Given the description of an element on the screen output the (x, y) to click on. 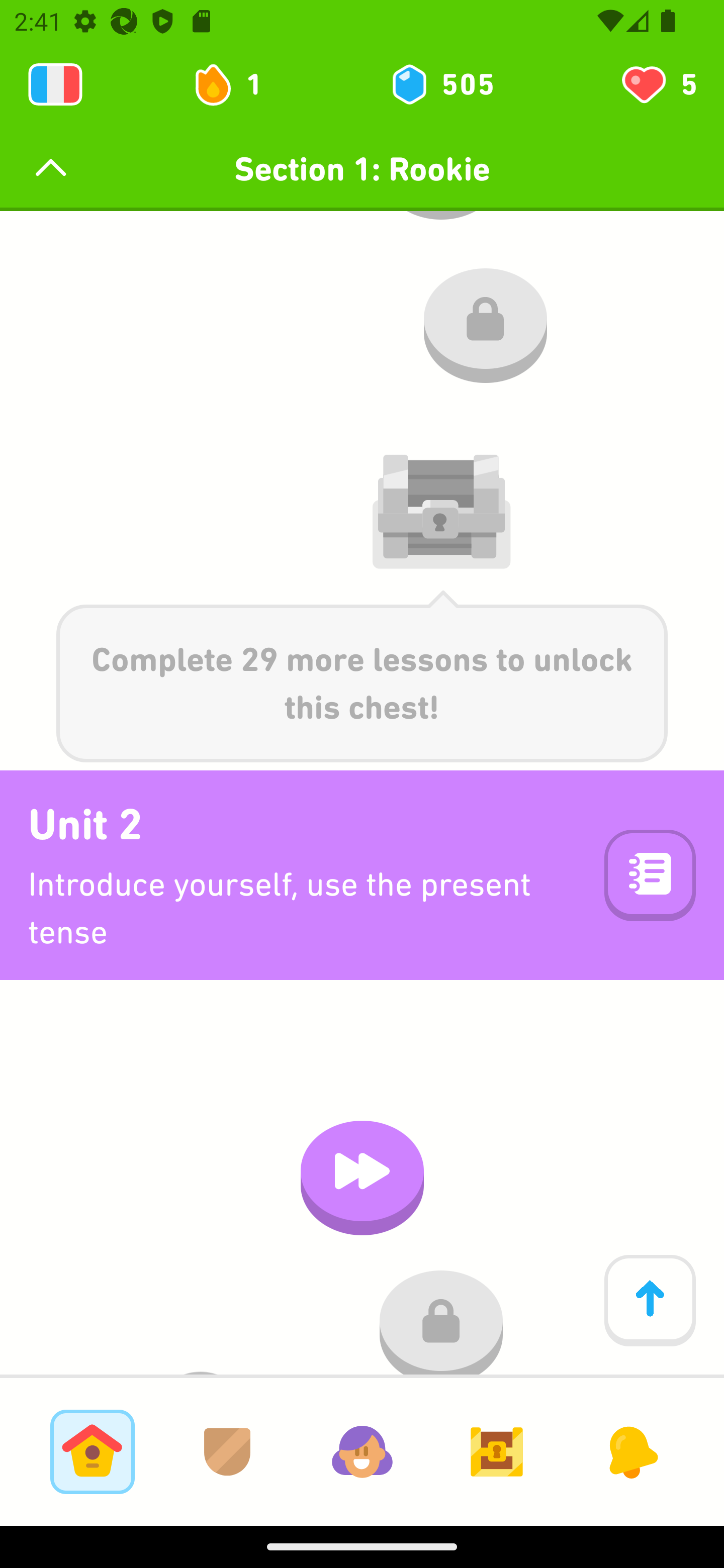
Learning 2131888976 (55, 84)
1 day streak 1 (236, 84)
505 (441, 84)
You have 5 hearts left 5 (657, 84)
Section 1: Rookie (362, 169)
Complete 29 more lessons to unlock this chest! (361, 676)
Learn Tab (91, 1451)
Leagues Tab (227, 1451)
Profile Tab (361, 1451)
Goals Tab (496, 1451)
News Tab (631, 1451)
